Given the description of an element on the screen output the (x, y) to click on. 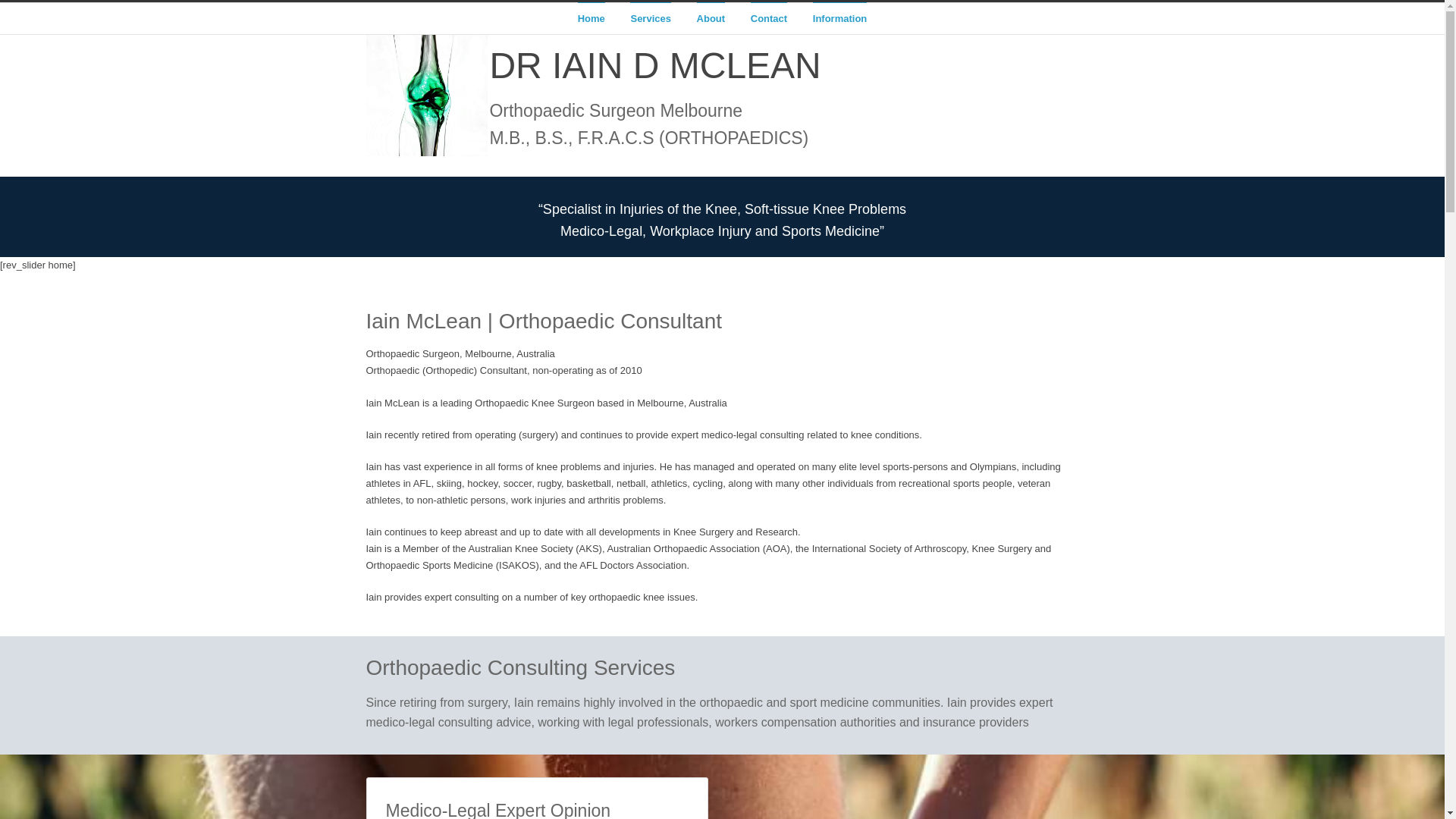
Information Element type: text (839, 18)
About Element type: text (710, 18)
Services Element type: text (650, 18)
Home Element type: text (591, 18)
Contact Element type: text (768, 18)
